Given the description of an element on the screen output the (x, y) to click on. 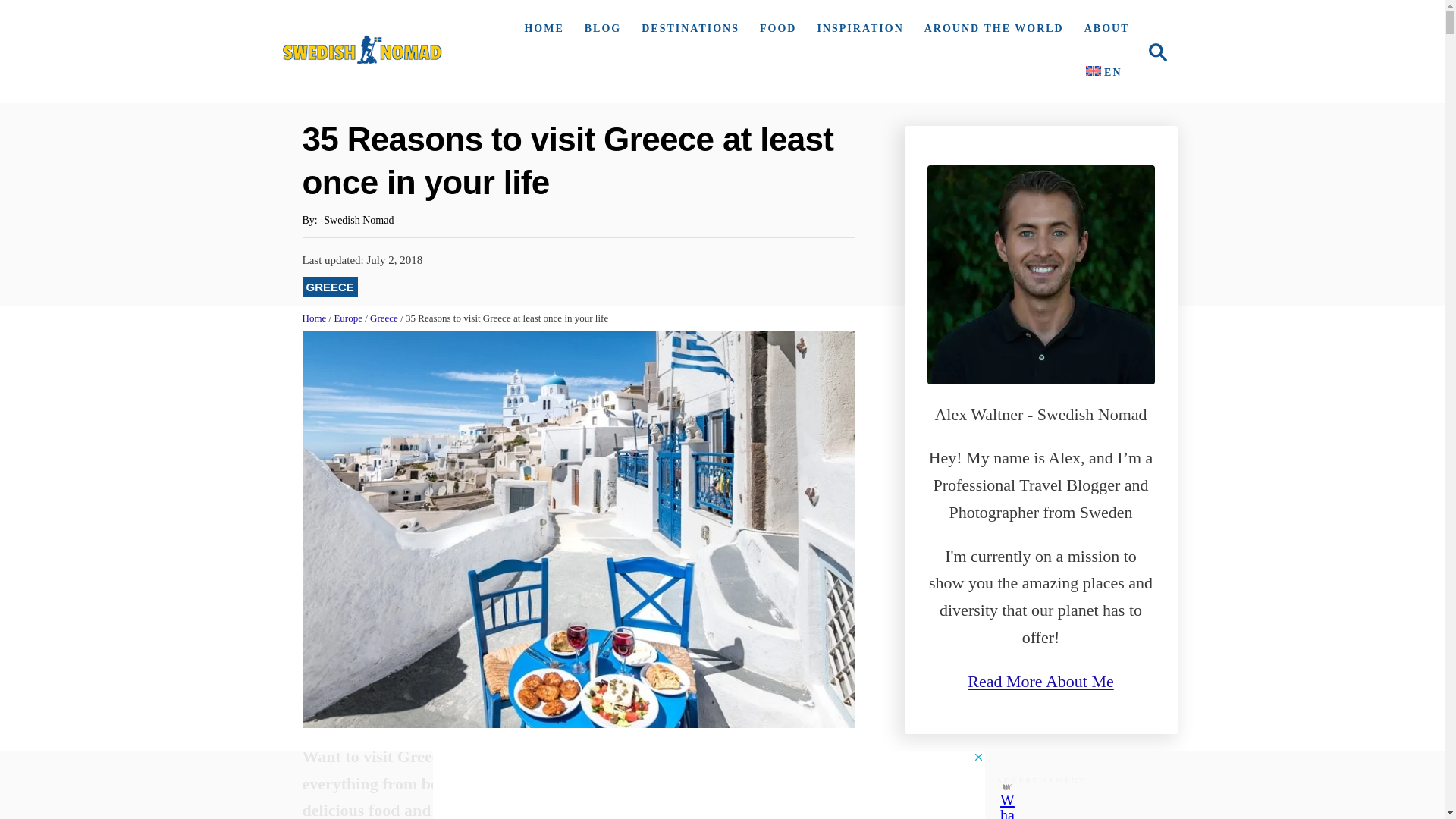
Swedish Nomad (362, 51)
BLOG (598, 28)
3rd party ad content (708, 785)
HOME (539, 28)
3rd party ad content (1040, 804)
Magnifying Glass (1156, 52)
DESTINATIONS (686, 28)
EN (1152, 50)
